Given the description of an element on the screen output the (x, y) to click on. 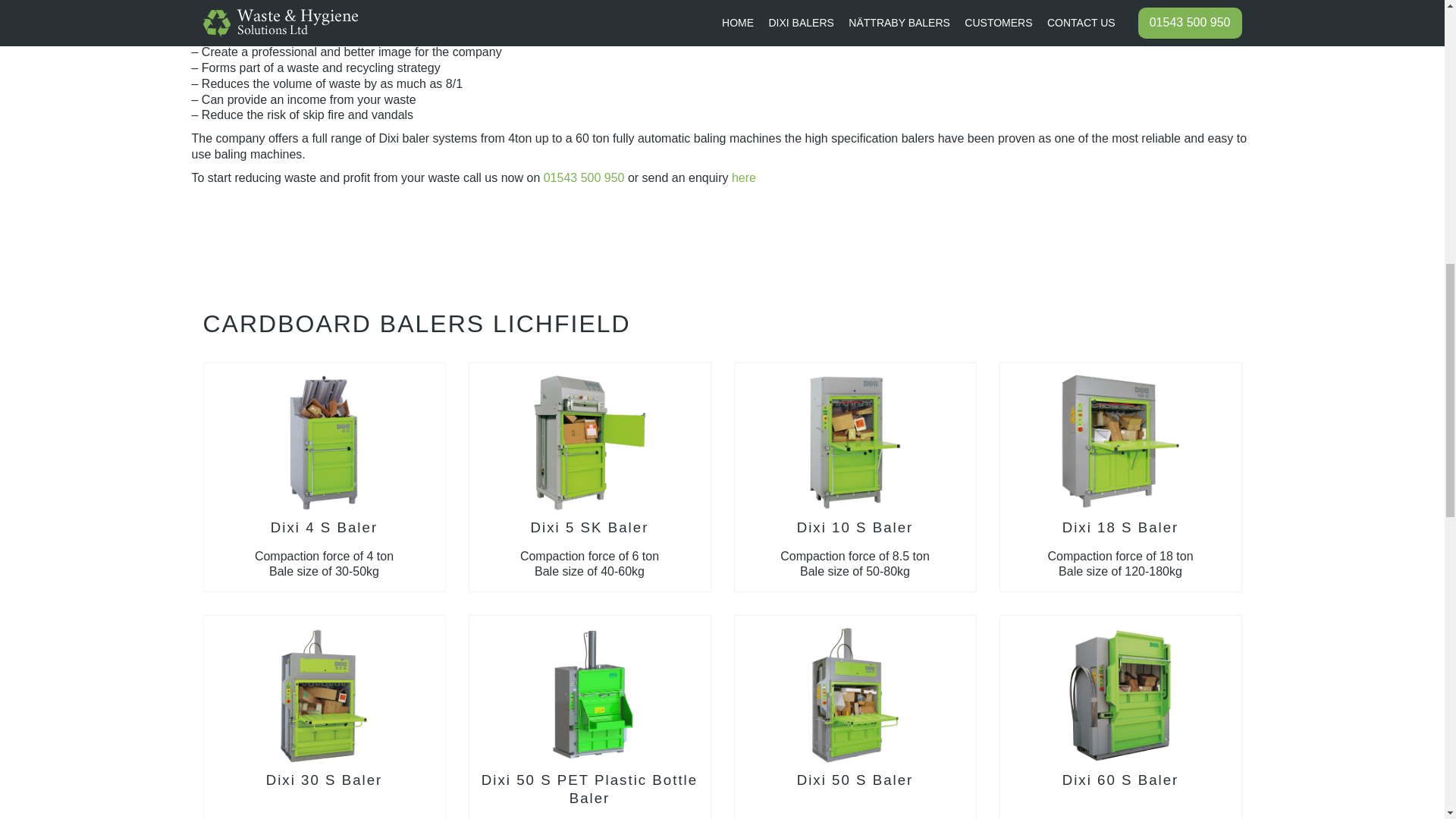
here (743, 177)
01543 500 950 (583, 177)
